Given the description of an element on the screen output the (x, y) to click on. 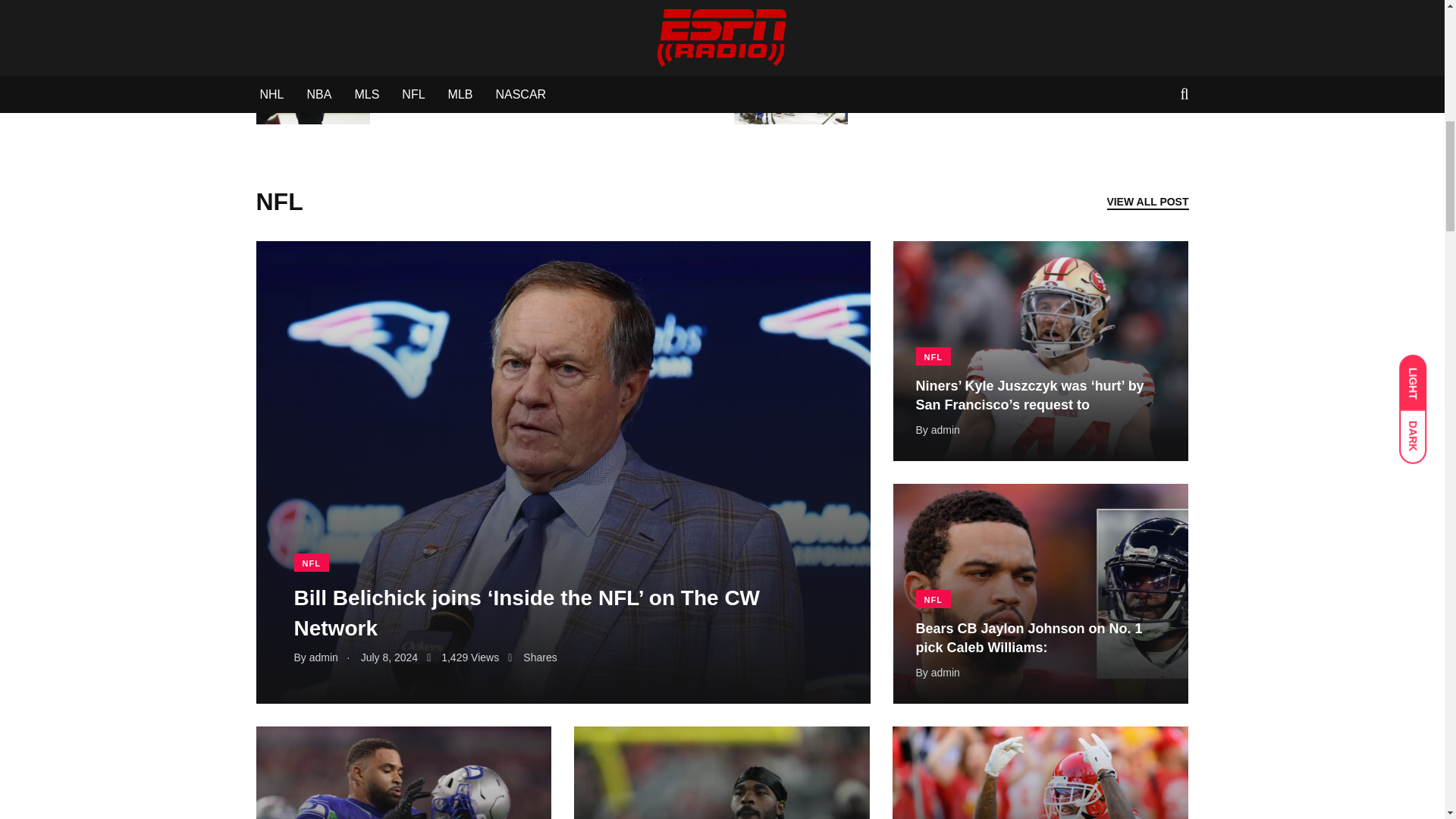
NHL (411, 19)
Lightning extend D Moser on two-year deal (548, 49)
NHL (888, 19)
VIEW ALL POST (1147, 201)
